Given the description of an element on the screen output the (x, y) to click on. 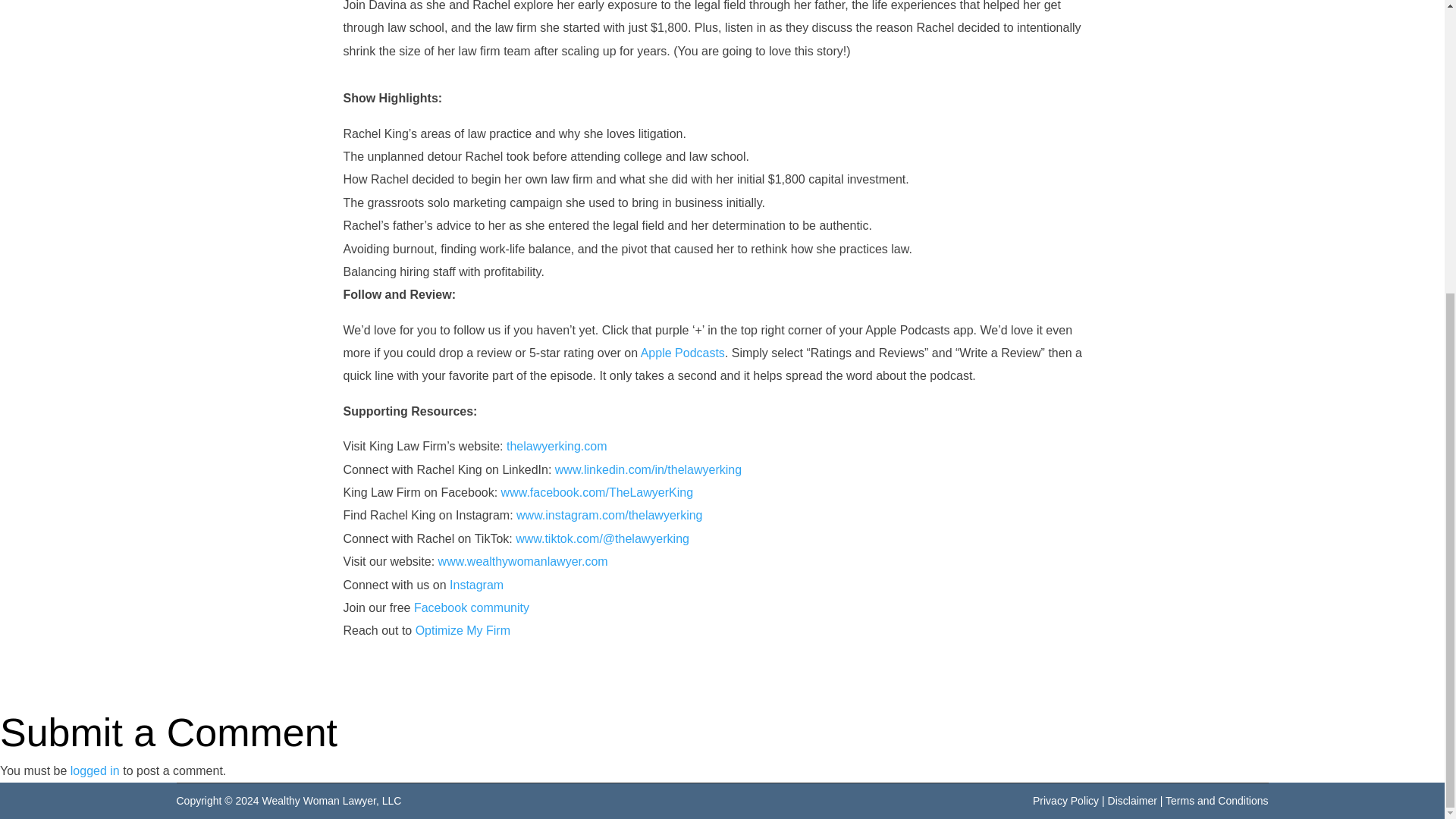
Apple Podcasts (682, 352)
Instagram (476, 584)
thelawyerking.com (556, 445)
Terms and Conditions (1217, 800)
Facebook community (471, 607)
logged in (94, 770)
Optimize My Firm (462, 630)
www.wealthywomanlawyer.com (523, 561)
Privacy Policy (1065, 800)
Disclaimer (1132, 800)
